Given the description of an element on the screen output the (x, y) to click on. 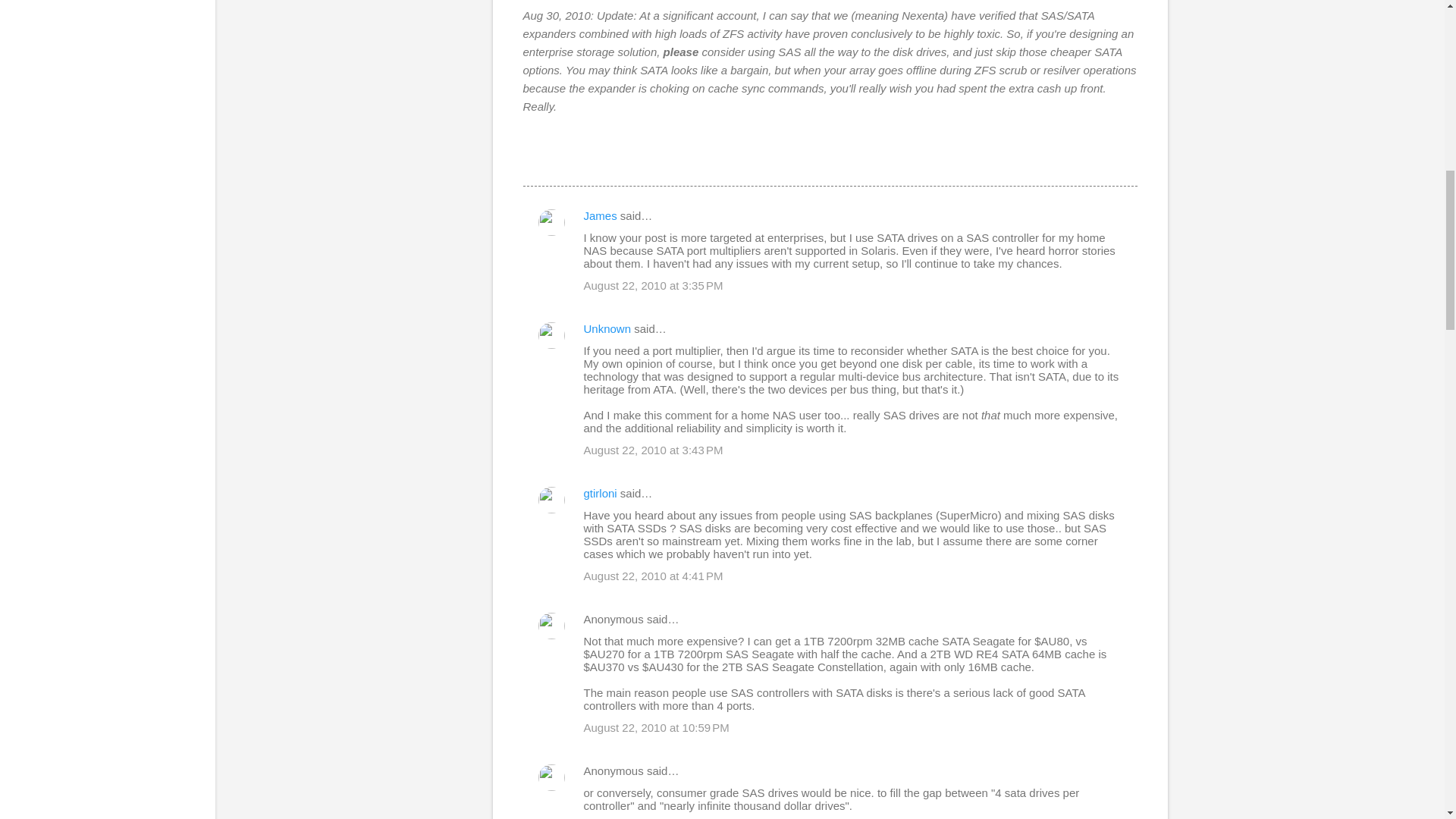
gtirloni (600, 492)
Unknown (607, 328)
Email Post (531, 157)
comment permalink (653, 285)
James (600, 215)
